Given the description of an element on the screen output the (x, y) to click on. 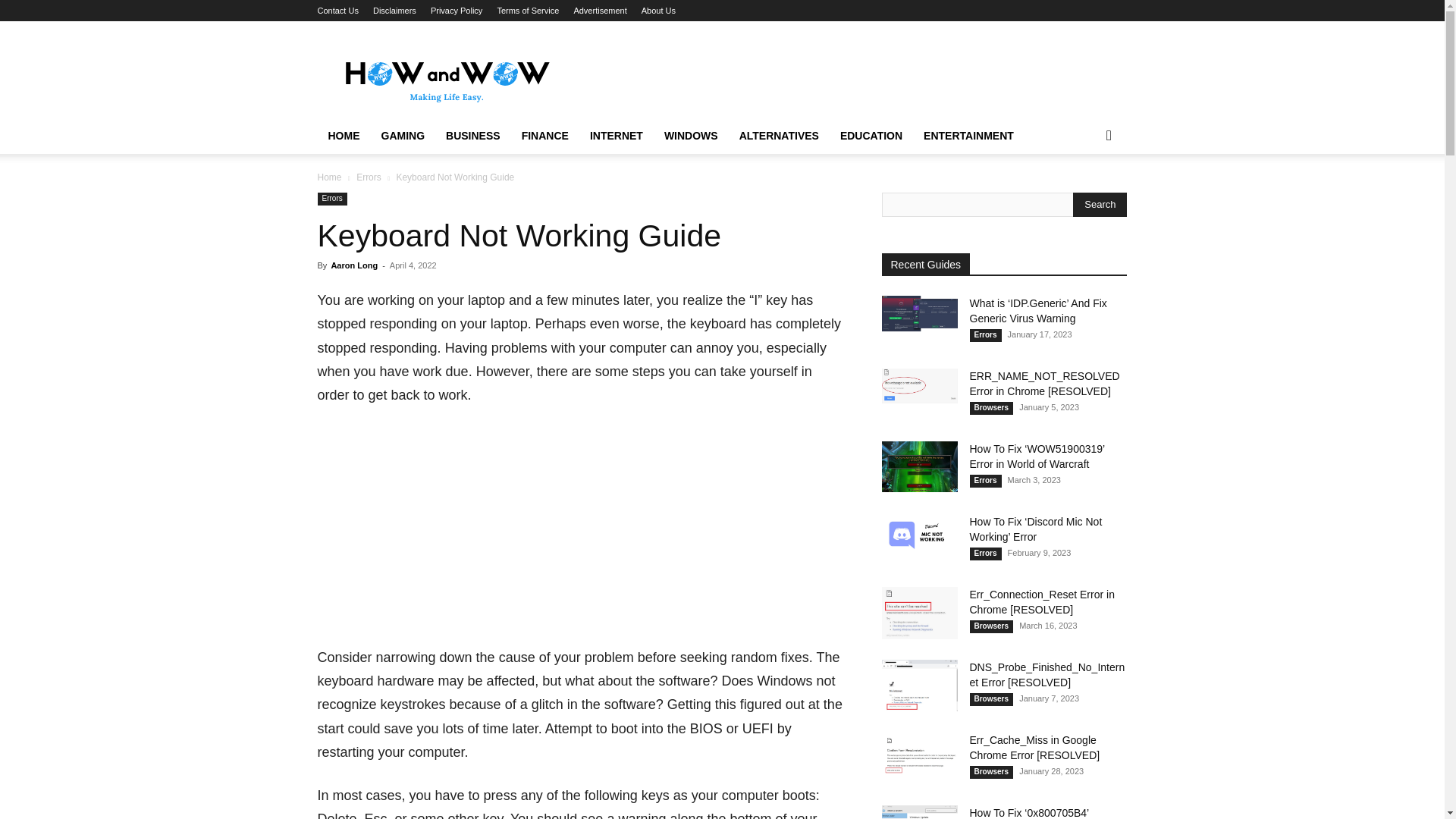
Disclaimers (394, 10)
BUSINESS (473, 135)
HOME (343, 135)
Contact Us (337, 10)
ALTERNATIVES (779, 135)
WINDOWS (691, 135)
FINANCE (545, 135)
Terms of Service (527, 10)
Search (1085, 196)
About Us (658, 10)
